Given the description of an element on the screen output the (x, y) to click on. 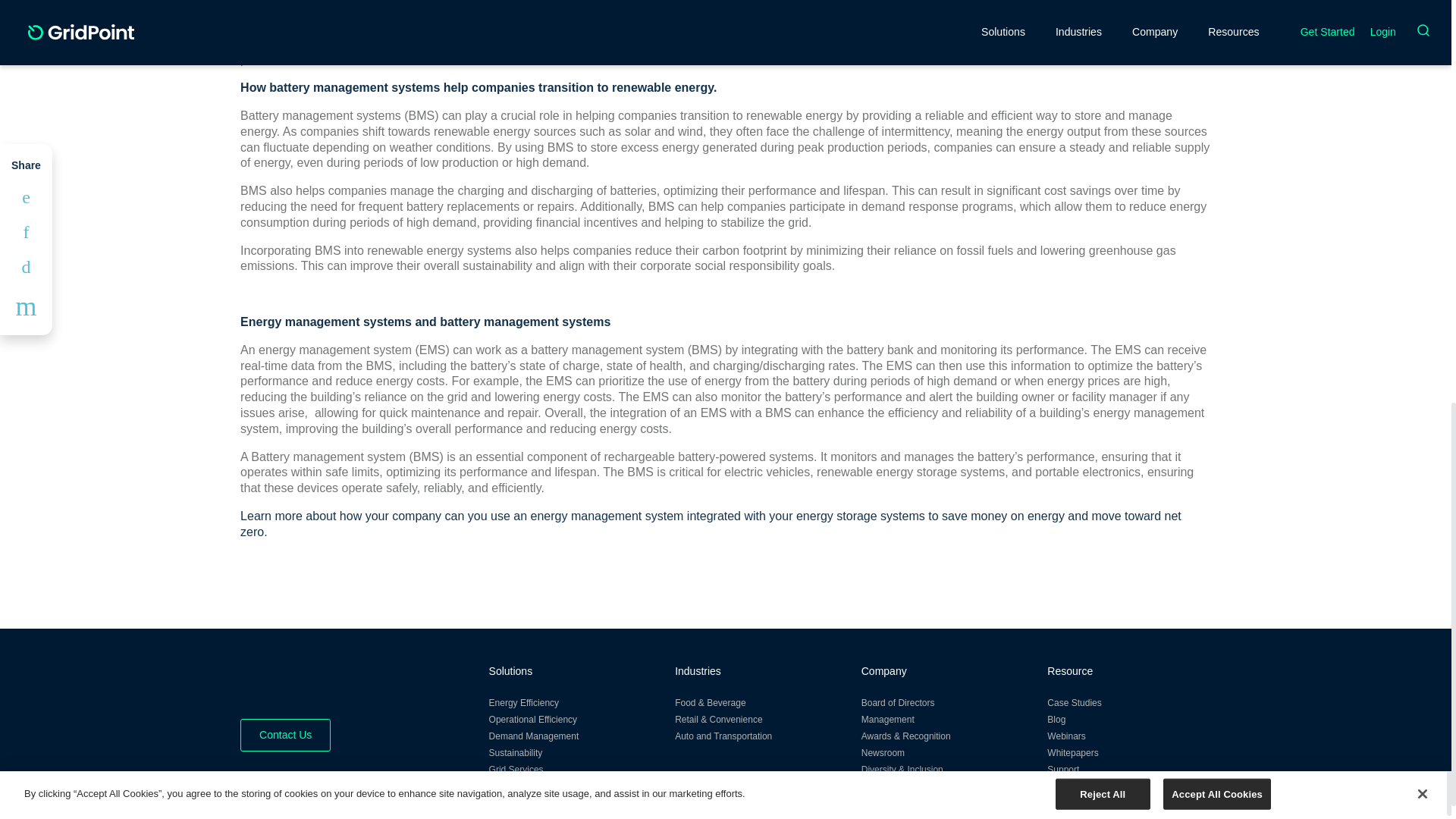
Sustainability (516, 752)
Auto and Transportation (723, 736)
Energy Efficiency (524, 702)
Contact Us (285, 735)
Grid Services (516, 769)
Operational Efficiency (533, 719)
Demand Management (534, 736)
Company (884, 671)
Industries (697, 671)
